Given the description of an element on the screen output the (x, y) to click on. 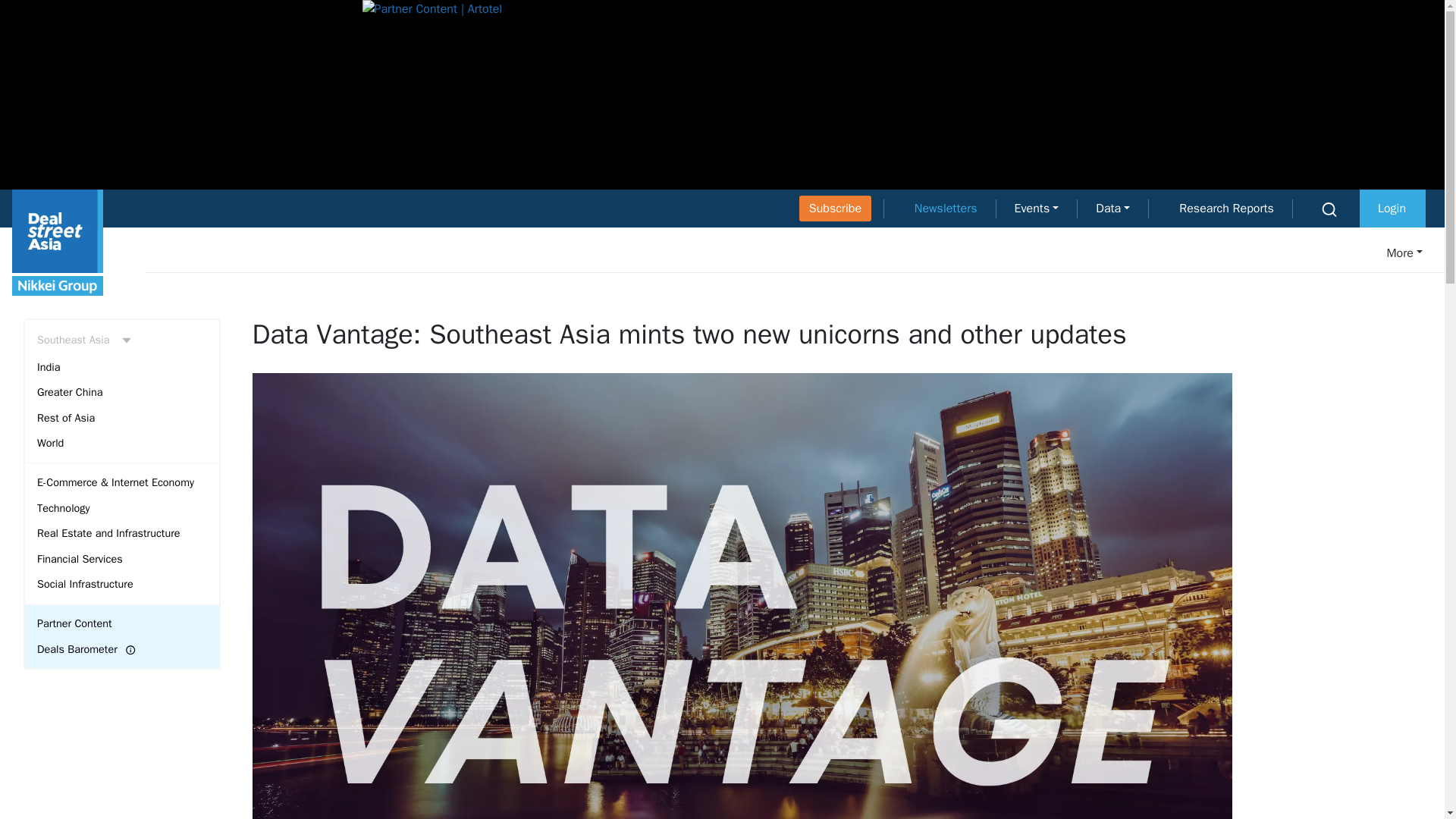
Venture Capital (904, 253)
Data (1112, 208)
Subscribe (834, 208)
Events (1037, 208)
Southeast Asia (121, 339)
People (1316, 253)
Login (1391, 208)
Unicorns (1047, 253)
Private Credit (1184, 253)
Research Reports (1226, 208)
Newsletters (946, 208)
Private Equity (749, 253)
More (1394, 253)
